Given the description of an element on the screen output the (x, y) to click on. 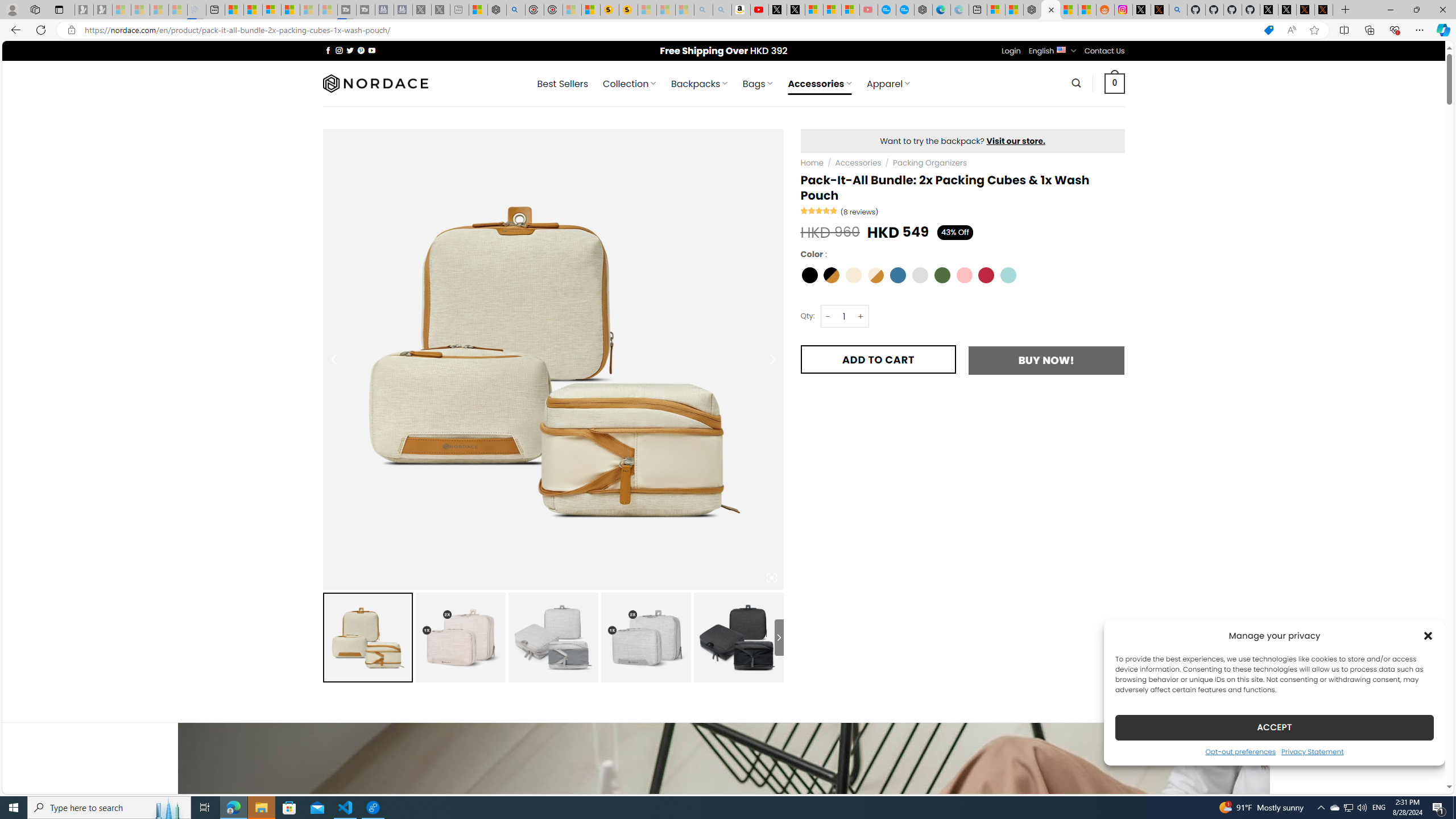
Accessories (857, 162)
- (827, 316)
X Privacy Policy (1324, 9)
Privacy Statement (1312, 750)
Login (1010, 50)
Newsletter Sign Up - Sleeping (102, 9)
